Given the description of an element on the screen output the (x, y) to click on. 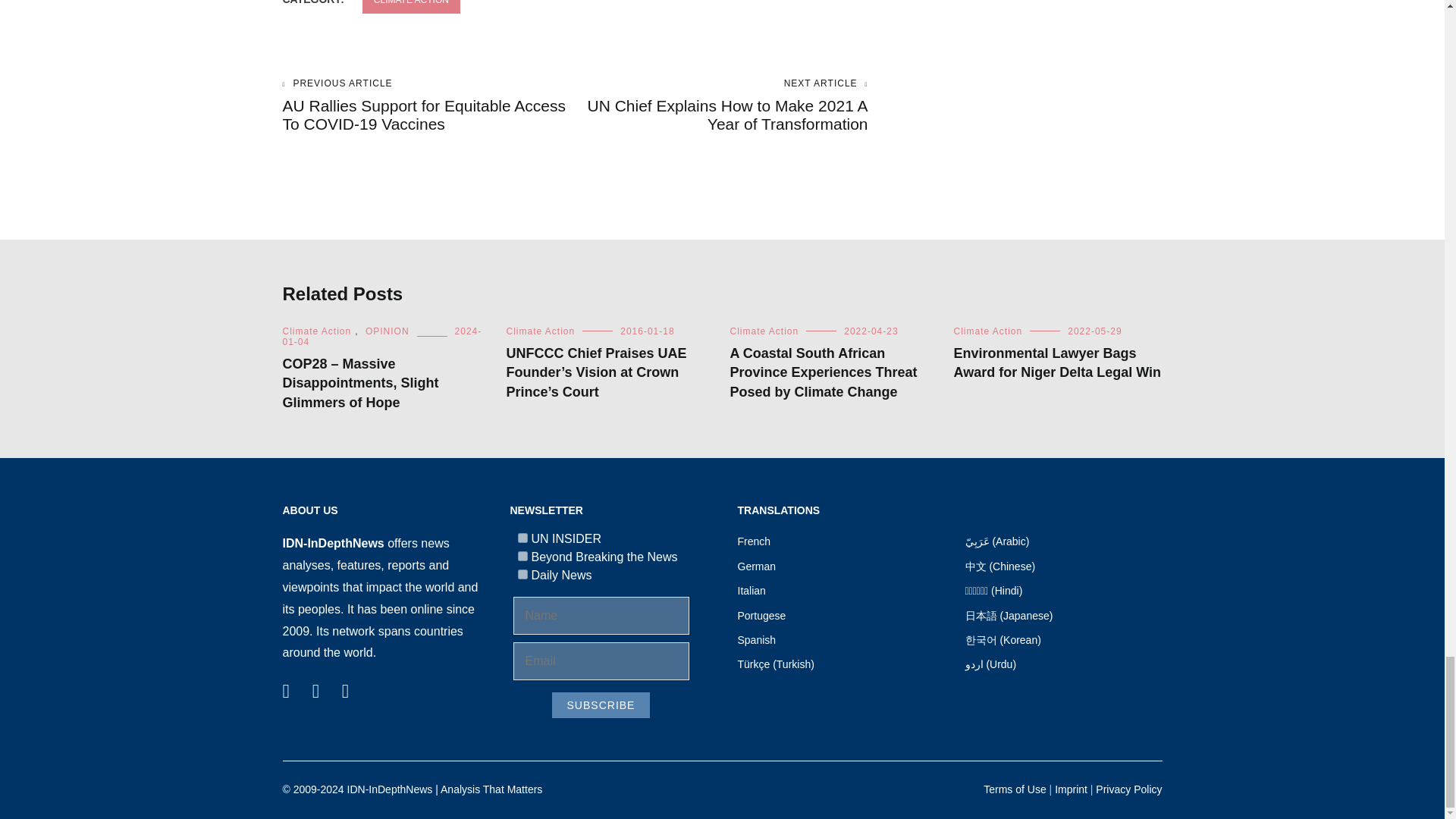
Imprint (1070, 788)
7 (521, 537)
Terms of Use (1014, 788)
10 (521, 574)
9 (521, 556)
